Given the description of an element on the screen output the (x, y) to click on. 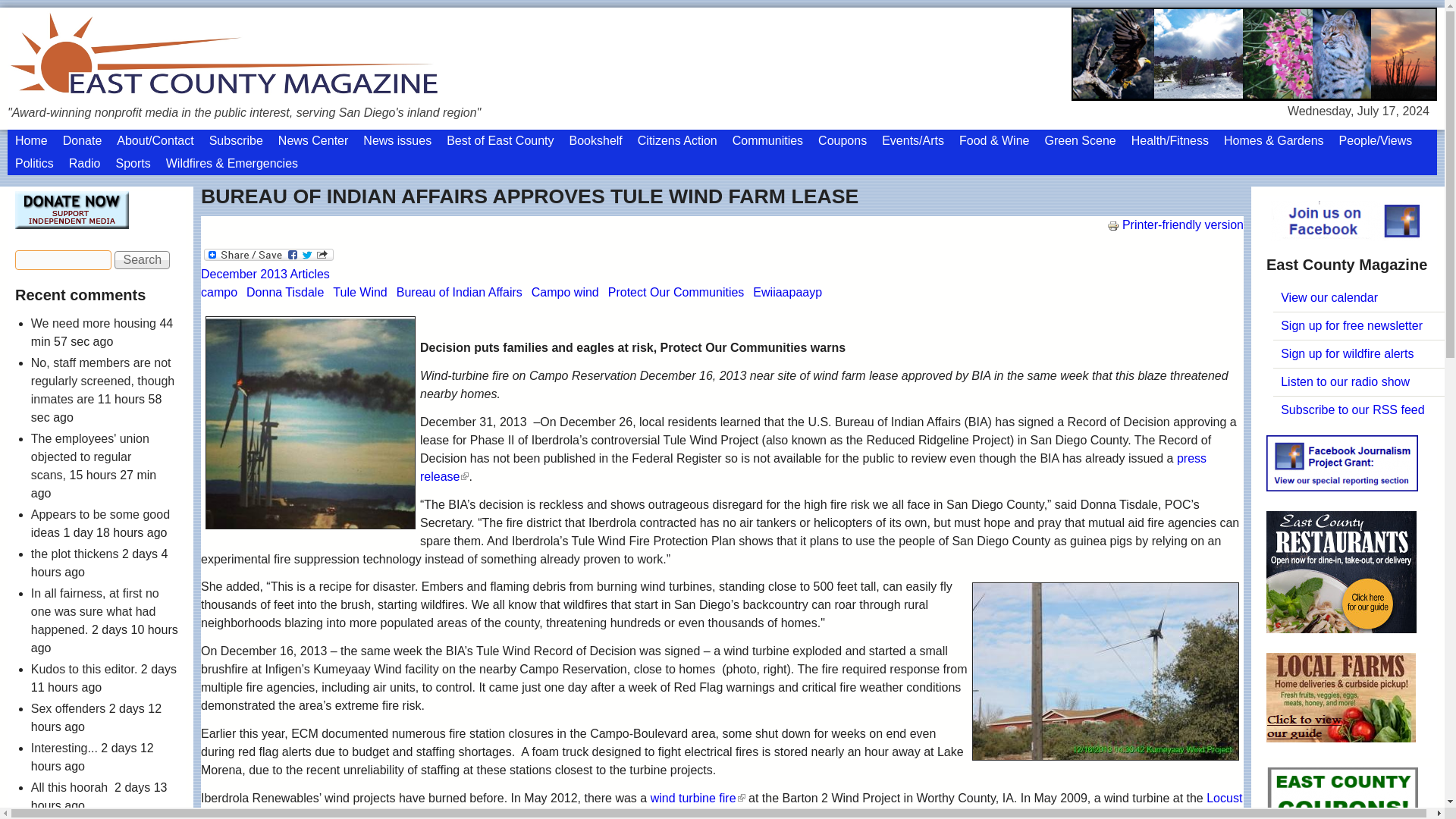
Best of East County (499, 140)
Subscribe (236, 140)
Donate (82, 140)
Search (142, 259)
News issues (397, 140)
News Center (312, 140)
Home (31, 140)
